Given the description of an element on the screen output the (x, y) to click on. 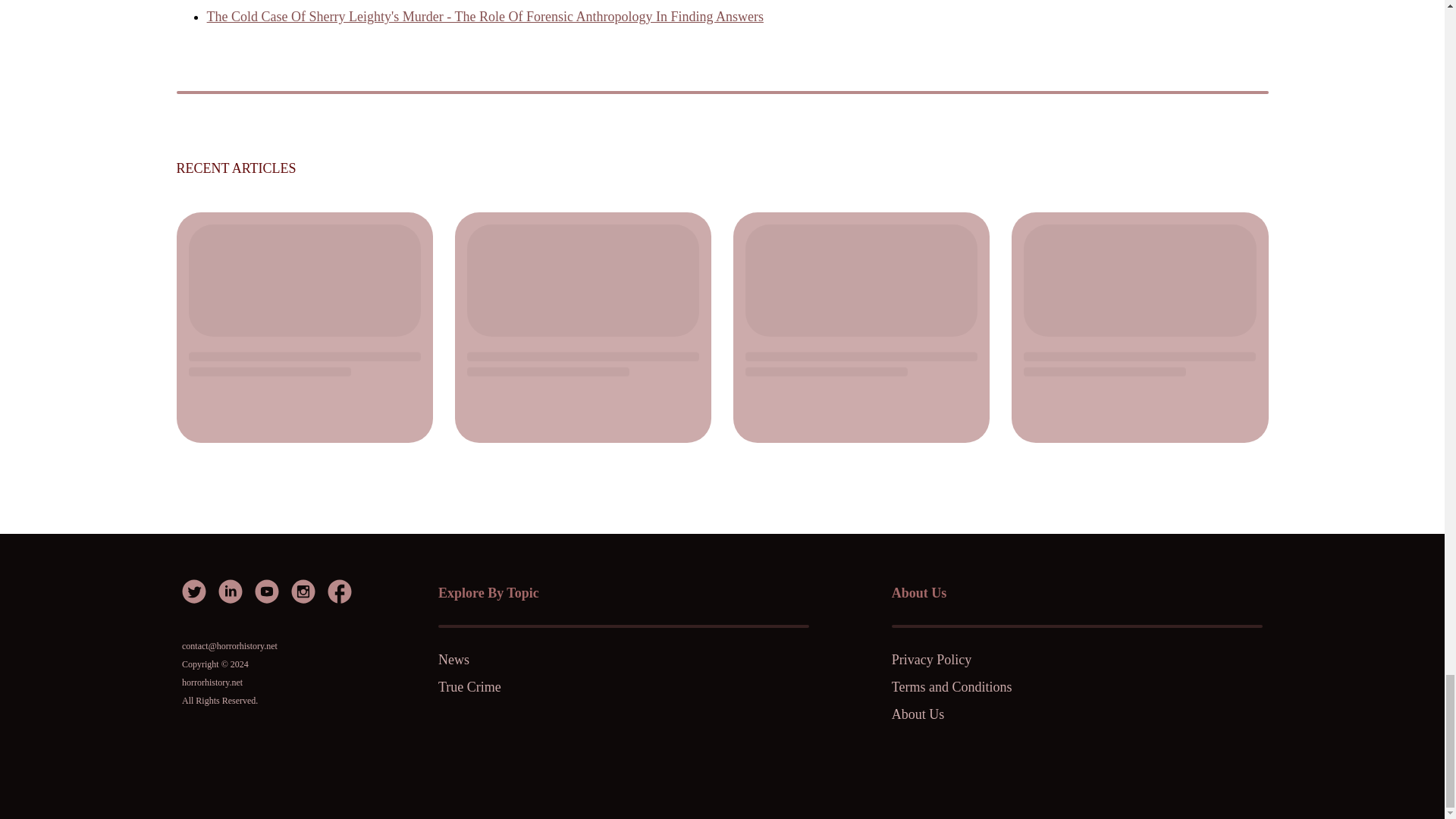
True Crime (565, 687)
Terms and Conditions (1019, 687)
About Us (1019, 714)
News (565, 659)
Privacy Policy (1019, 659)
